Given the description of an element on the screen output the (x, y) to click on. 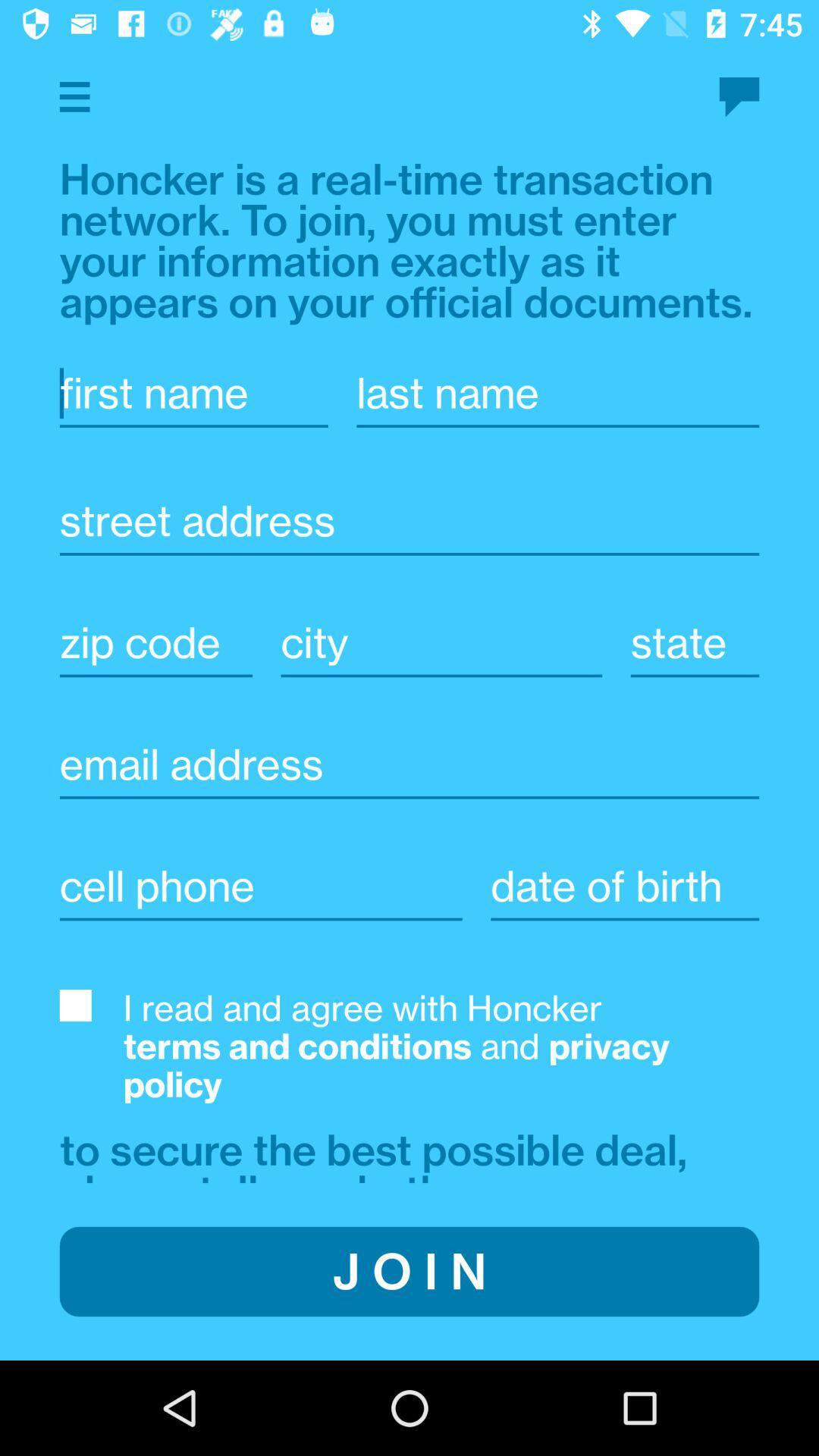
type your zipcode (155, 642)
